Given the description of an element on the screen output the (x, y) to click on. 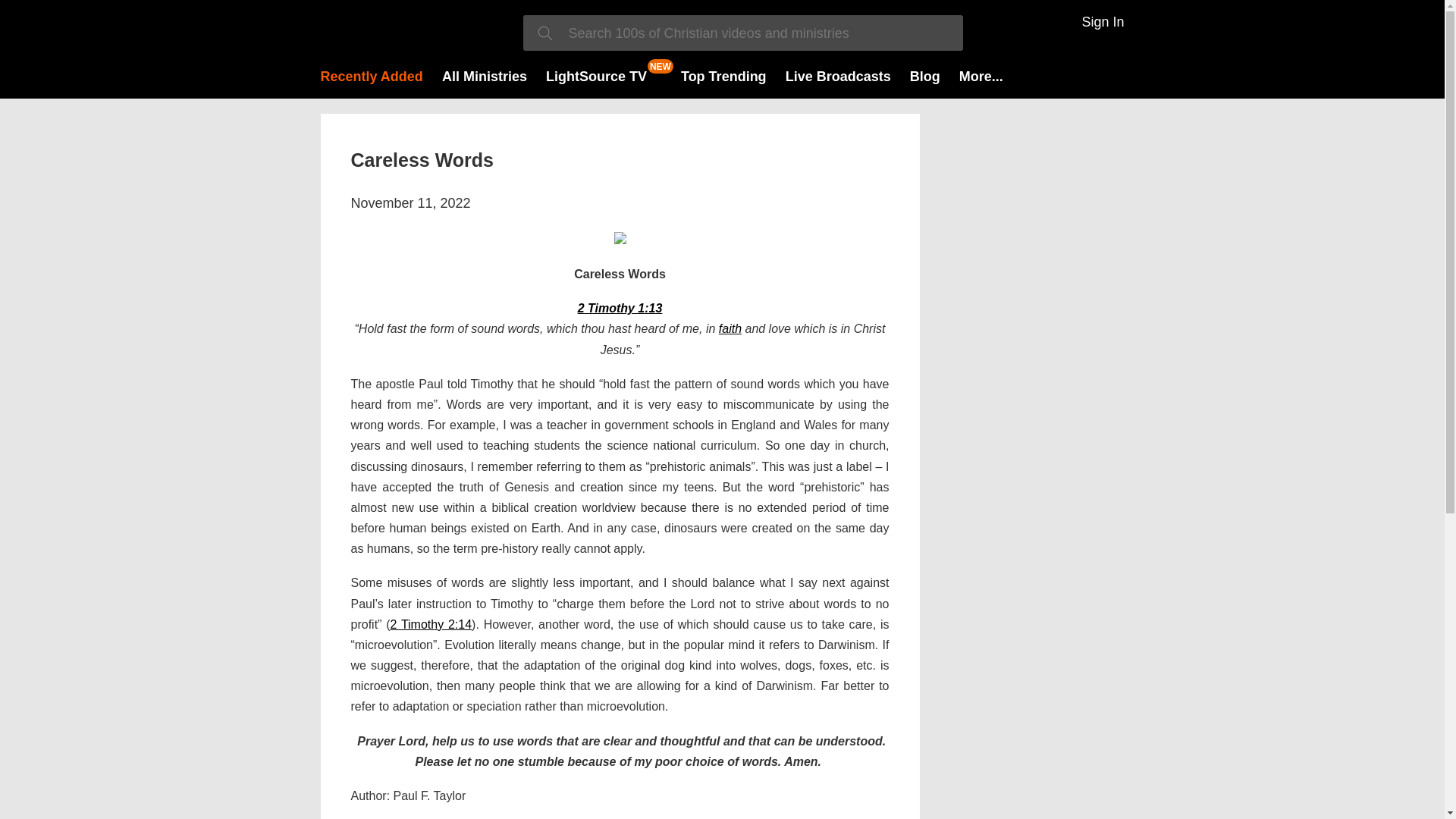
Blog (925, 76)
LightSource TV (596, 76)
All Ministries (484, 76)
2 Timothy 2:14 (430, 624)
More... (981, 76)
2 Timothy 1:13 (620, 308)
faith (730, 328)
Recently Added (371, 76)
Live Broadcasts (838, 76)
Top Trending (724, 76)
